Given the description of an element on the screen output the (x, y) to click on. 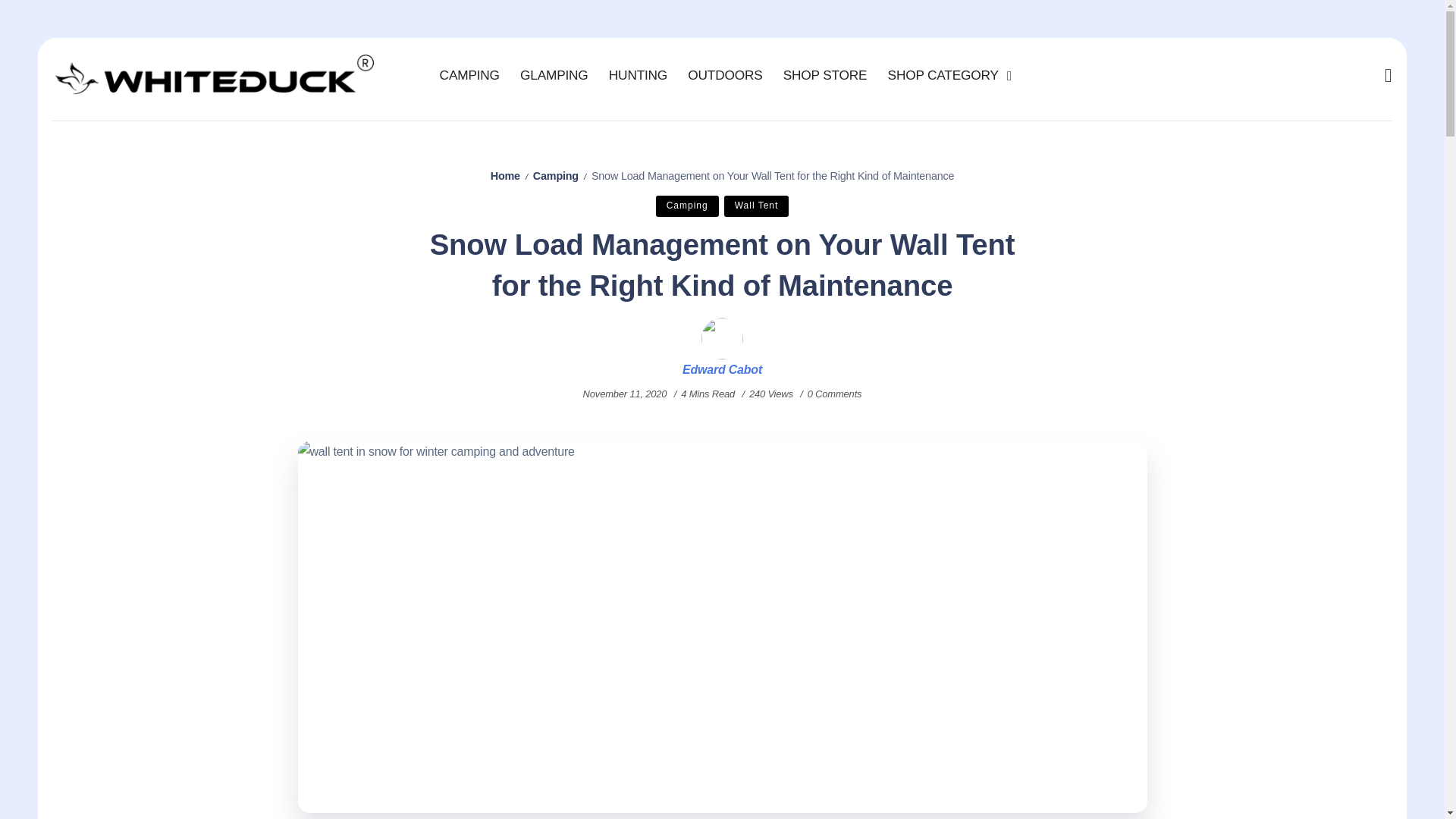
SHOP STORE (824, 75)
GLAMPING (553, 75)
Wall Tent (756, 206)
Wall Tent (756, 206)
Home (504, 175)
Camping (687, 206)
SHOP CATEGORY (945, 75)
Camping (687, 206)
Camping (555, 175)
CAMPING (468, 75)
HUNTING (638, 75)
OUTDOORS (724, 75)
Edward Cabot (721, 370)
